Given the description of an element on the screen output the (x, y) to click on. 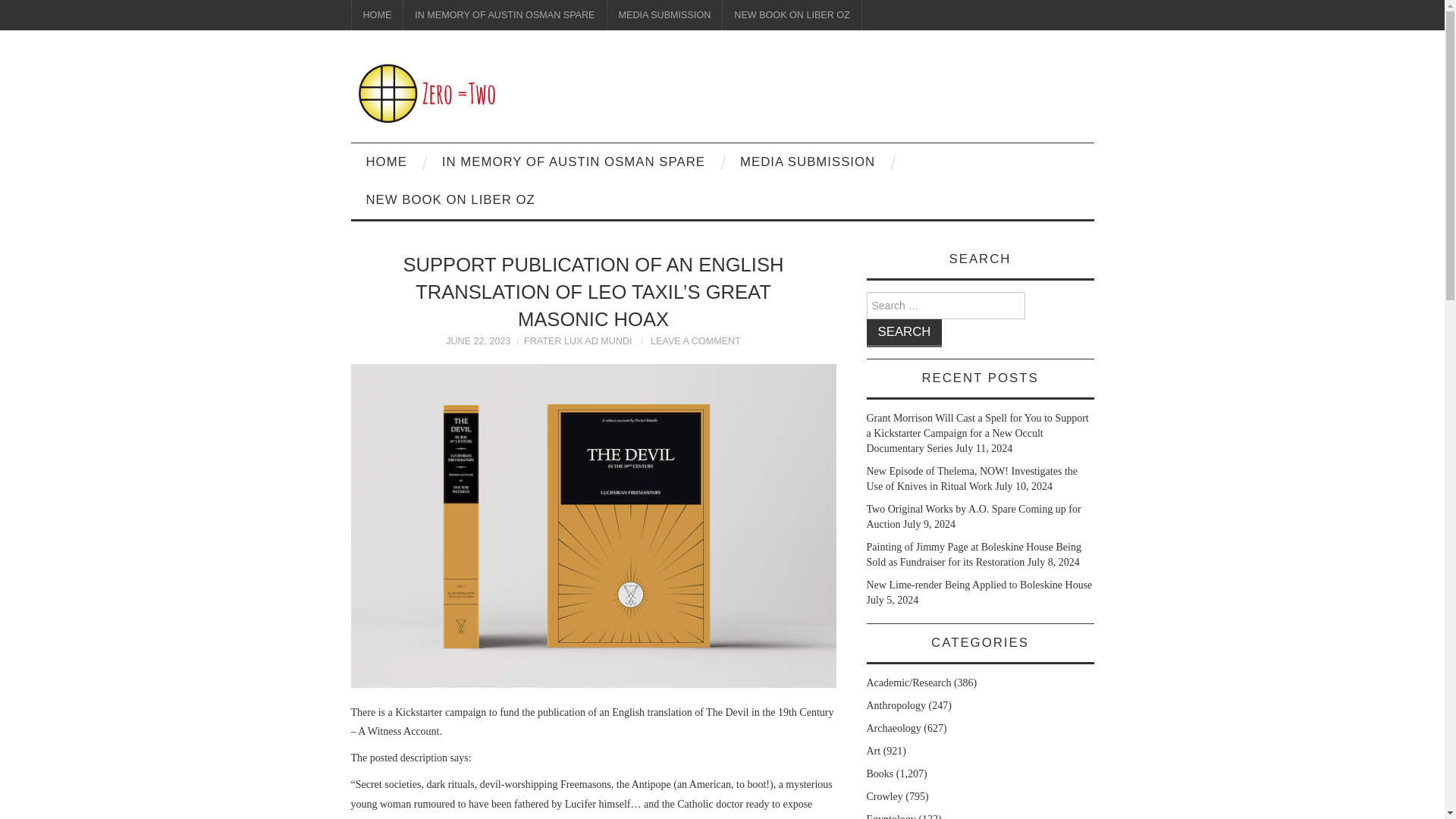
New Lime-render Being Applied to Boleskine House (979, 584)
LEAVE A COMMENT (695, 340)
MEDIA SUBMISSION (664, 15)
IN MEMORY OF AUSTIN OSMAN SPARE (504, 15)
Search (904, 333)
Search (904, 333)
FRATER LUX AD MUNDI (577, 340)
Zero Equals Two! (426, 92)
Anthropology (896, 705)
NEW BOOK ON LIBER OZ (450, 199)
Egyptology (890, 816)
Search (904, 333)
HOME (377, 15)
